Given the description of an element on the screen output the (x, y) to click on. 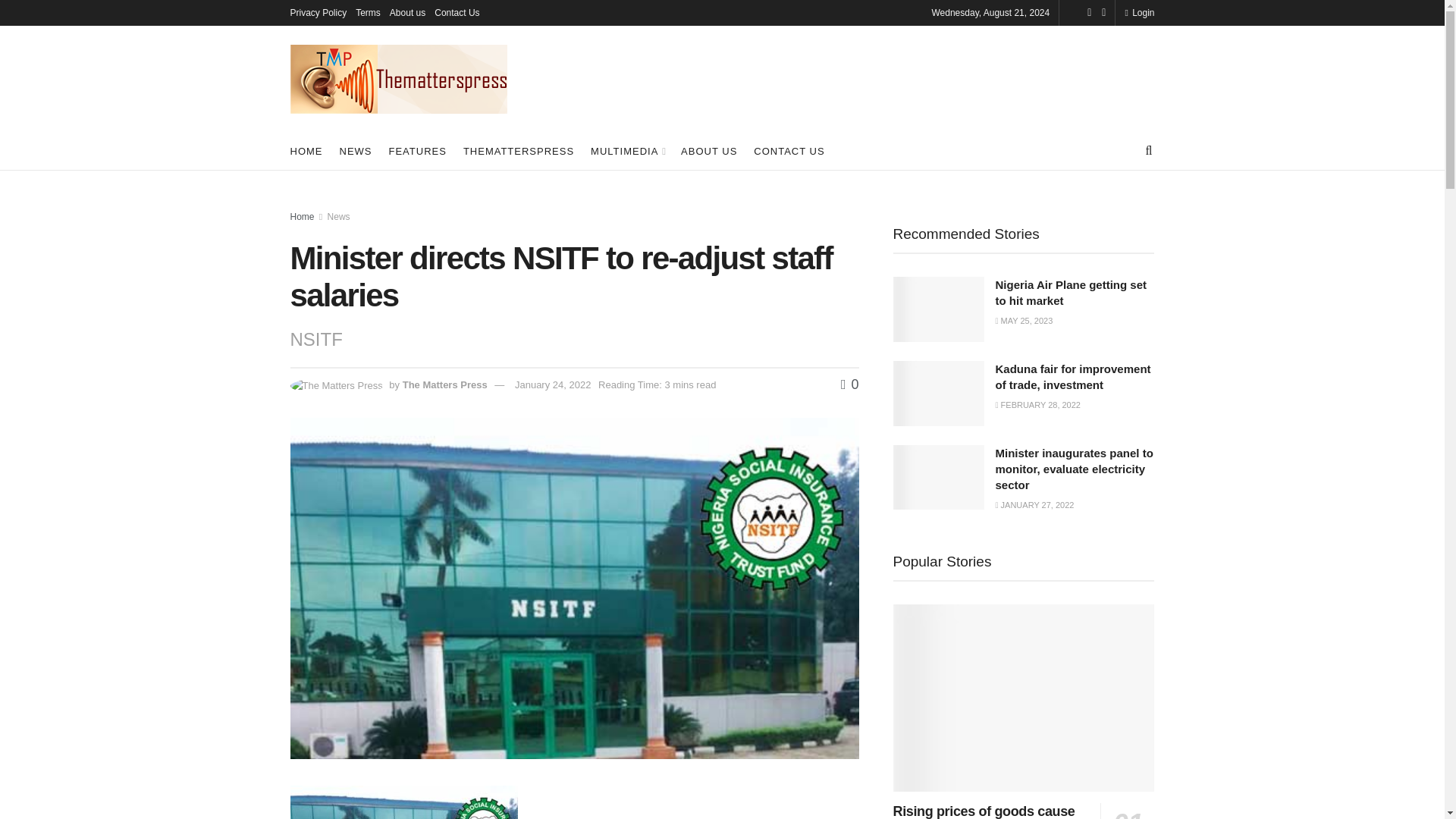
Terms (367, 12)
Login (1139, 12)
About us (407, 12)
THEMATTERSPRESS (518, 150)
NEWS (355, 150)
Contact Us (456, 12)
CONTACT US (789, 150)
Privacy Policy (317, 12)
News (338, 216)
ABOUT US (708, 150)
